Given the description of an element on the screen output the (x, y) to click on. 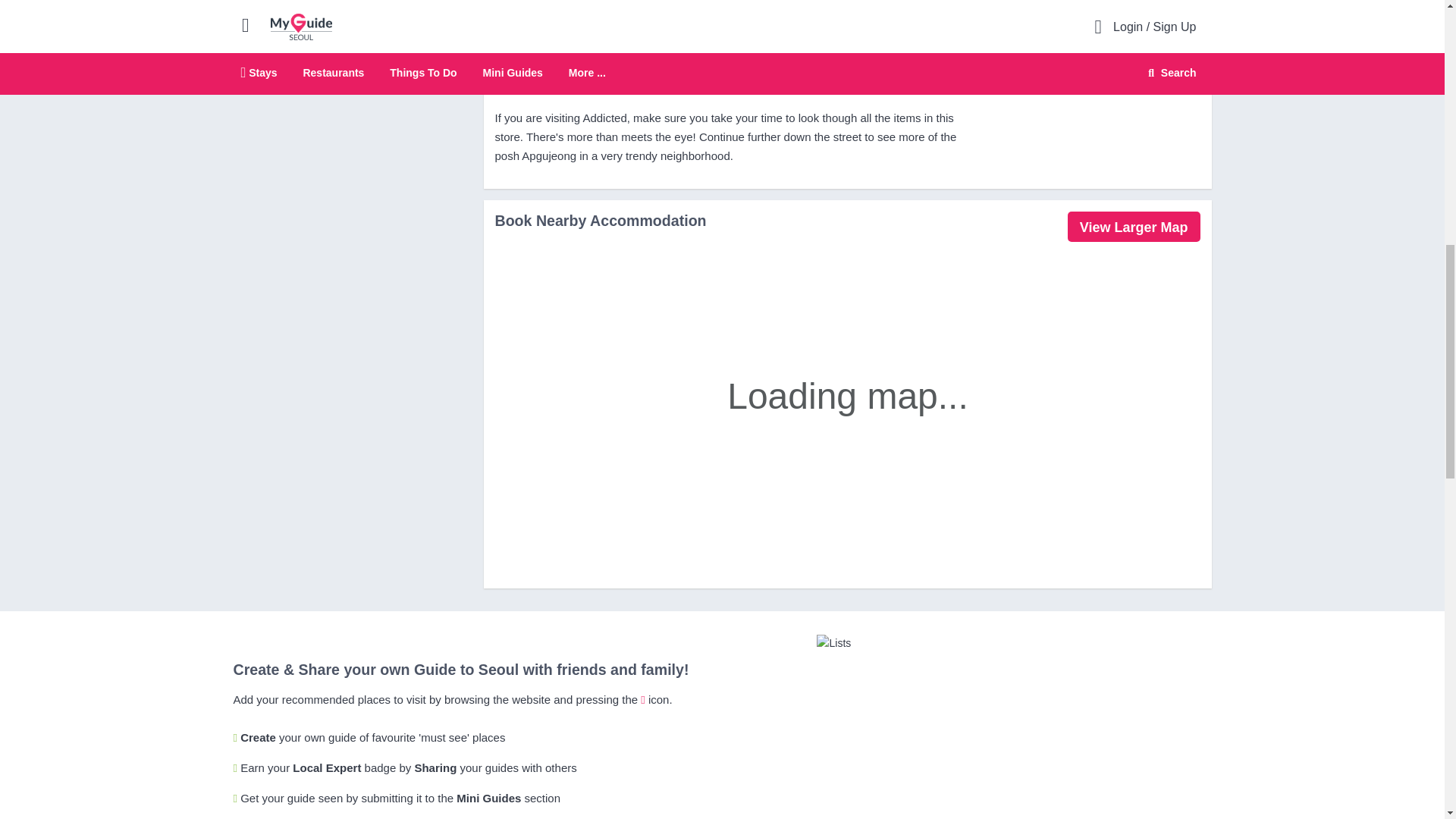
Garuso-gil Street (660, 38)
Apgujeong (906, 19)
Larger Map for Company: Addicted Seoul (1133, 226)
Cheongdam (785, 3)
